Given the description of an element on the screen output the (x, y) to click on. 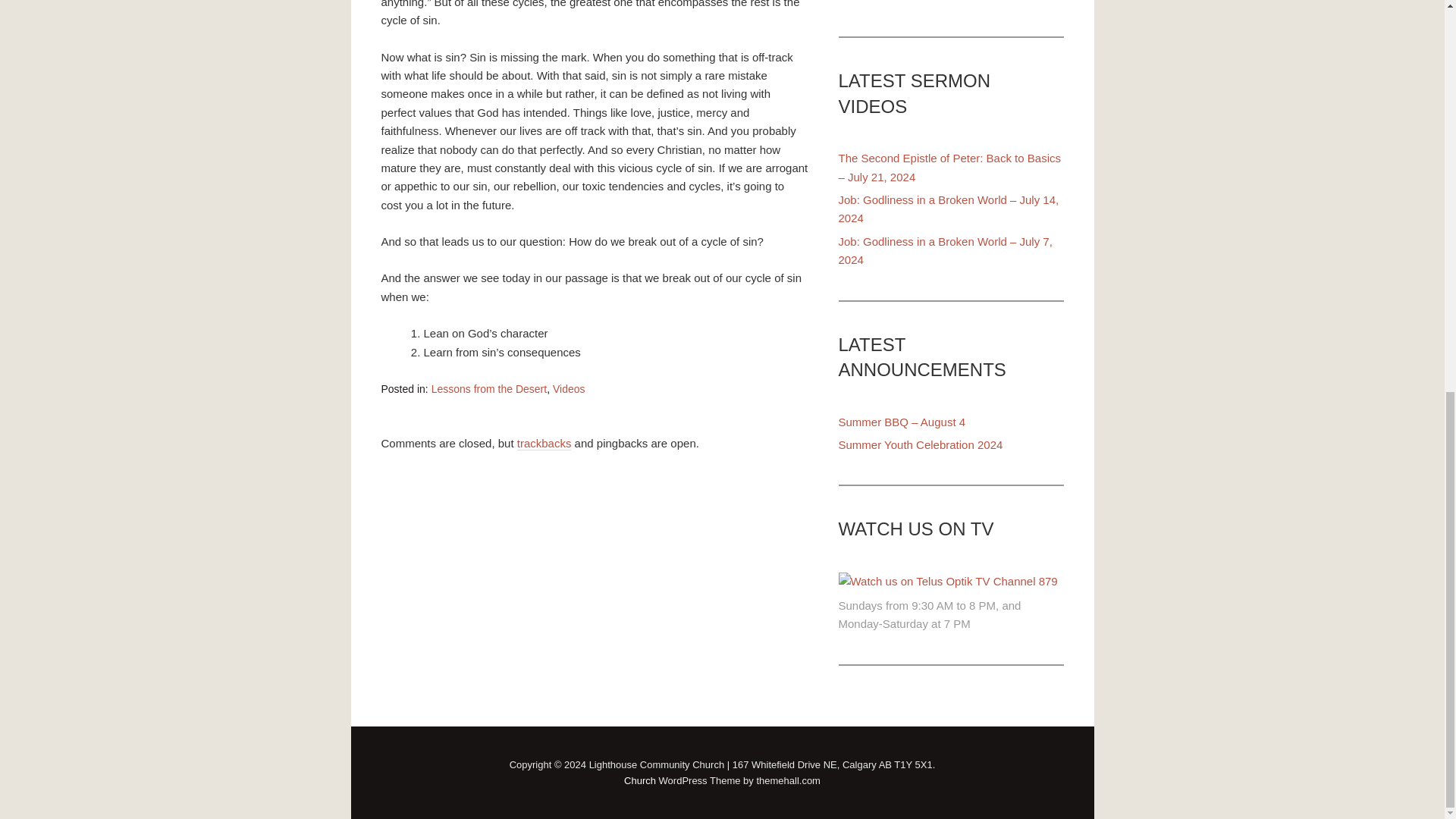
Trackback URL for this post (544, 443)
trackbacks (544, 443)
Lessons from the Desert (488, 388)
Videos (569, 388)
Church WordPress Theme (640, 780)
